Given the description of an element on the screen output the (x, y) to click on. 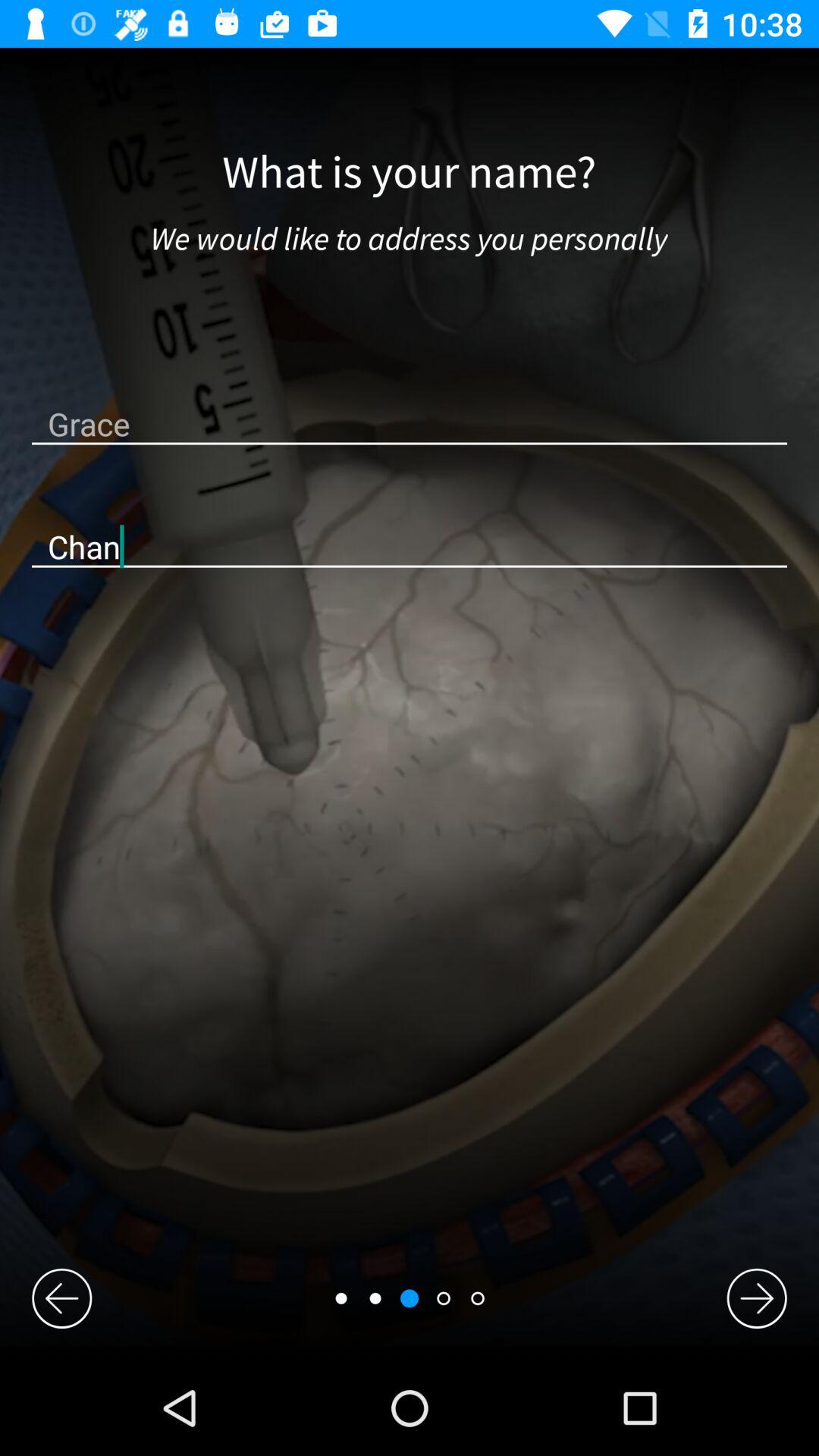
open the icon above chan item (409, 423)
